Given the description of an element on the screen output the (x, y) to click on. 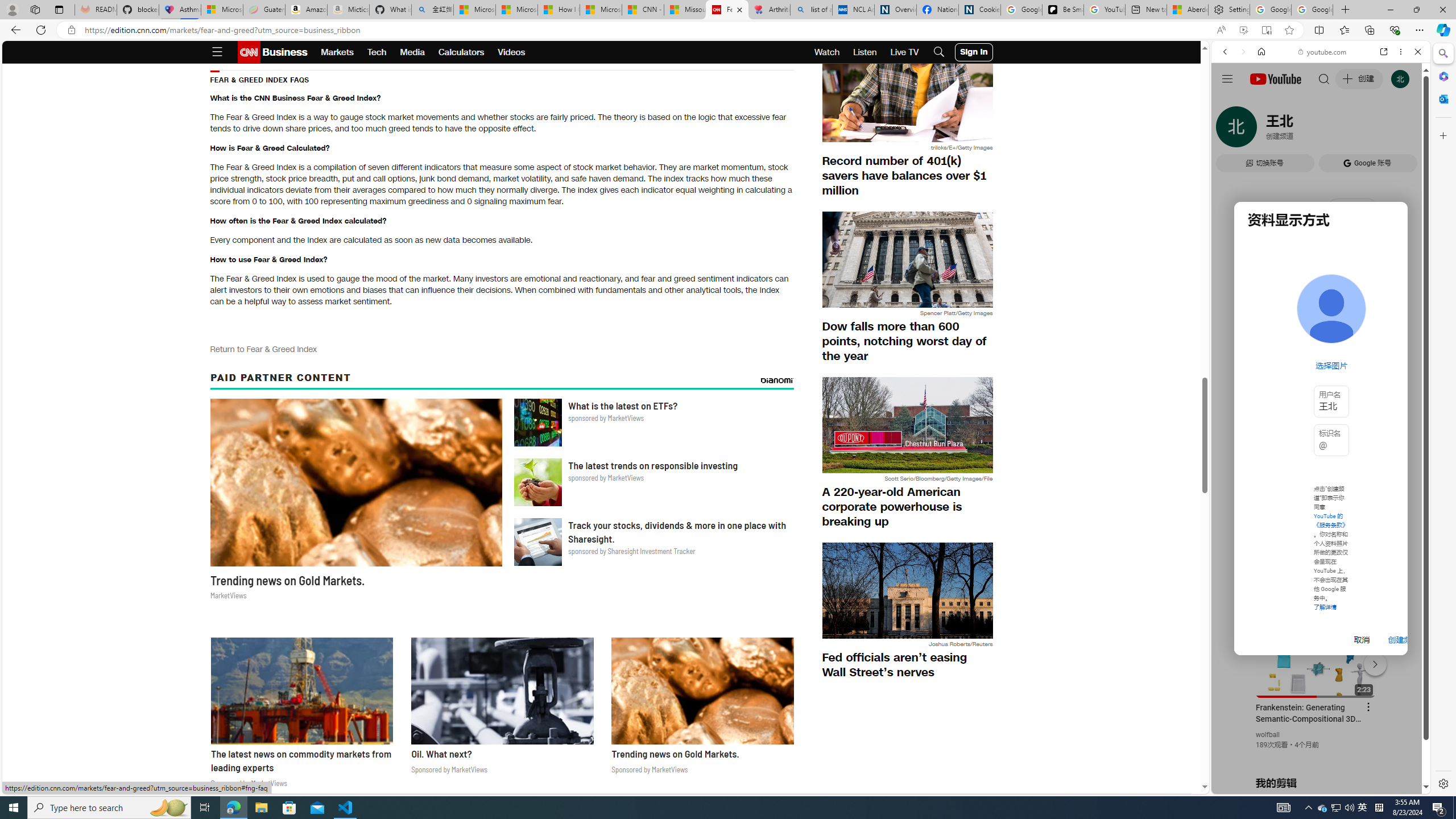
Microsoft-Report a Concern to Bing (221, 9)
Preferences (1403, 129)
Enhance video (1243, 29)
Class: dict_pnIcon rms_img (1312, 784)
Media (412, 51)
Google (1266, 331)
YouTube (1315, 655)
